Given the description of an element on the screen output the (x, y) to click on. 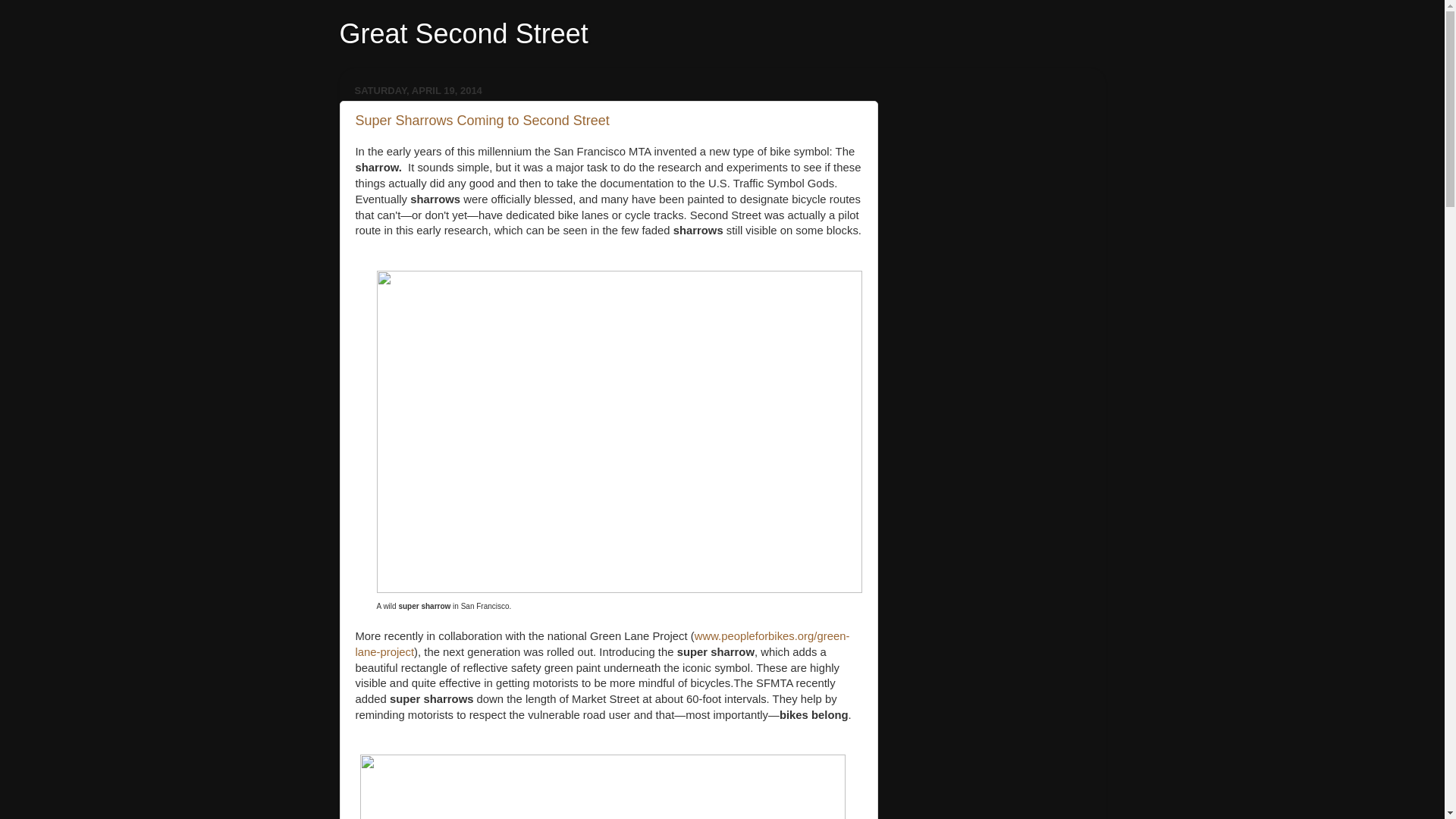
Great Second Street (463, 33)
Super Sharrows Coming to Second Street (481, 120)
